Given the description of an element on the screen output the (x, y) to click on. 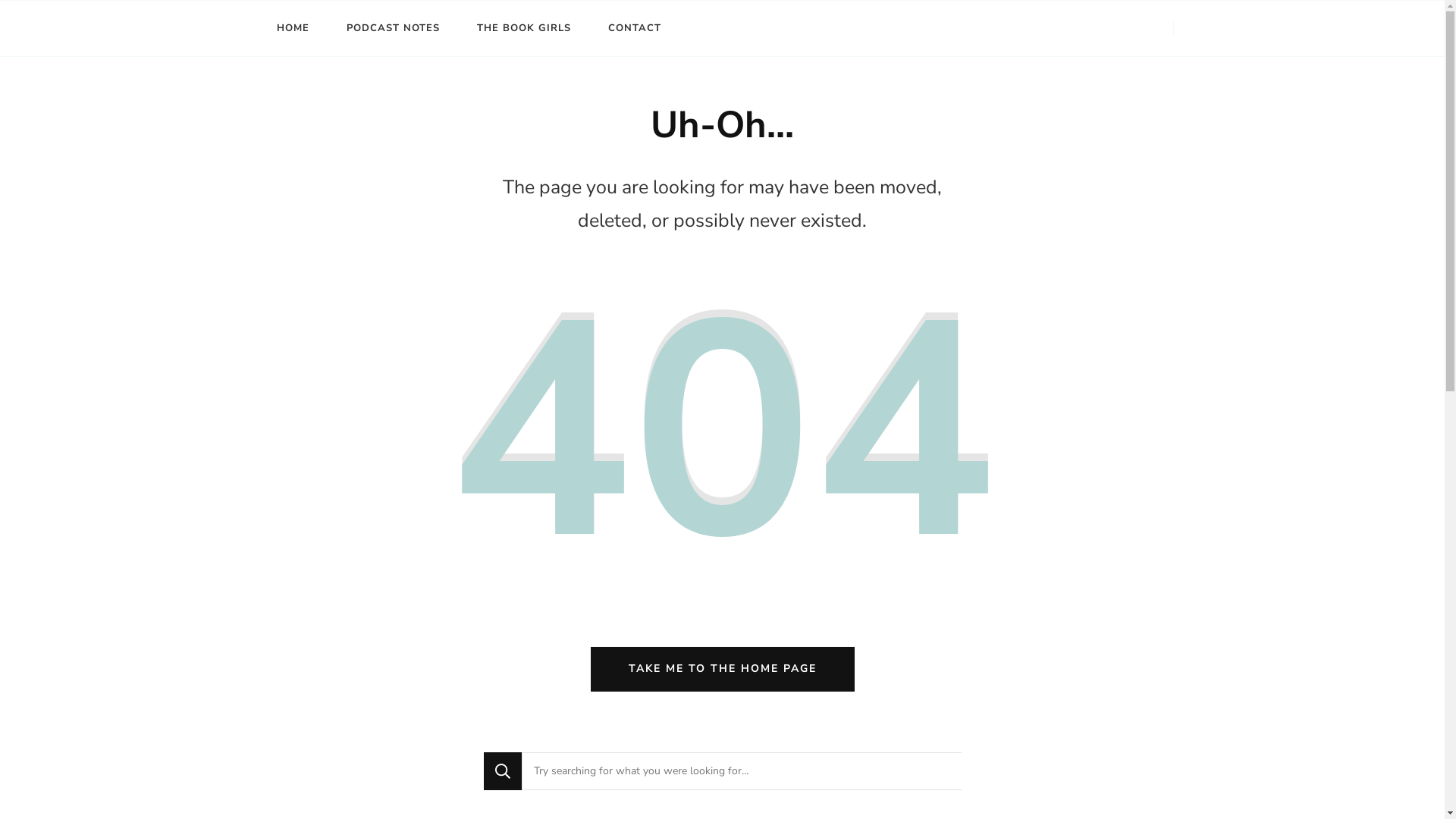
THE BOOK GIRLS Element type: text (522, 28)
PODCAST NOTES Element type: text (392, 28)
CONTACT Element type: text (634, 28)
Search Element type: text (502, 771)
HOME Element type: text (292, 28)
TAKE ME TO THE HOME PAGE Element type: text (721, 668)
